Given the description of an element on the screen output the (x, y) to click on. 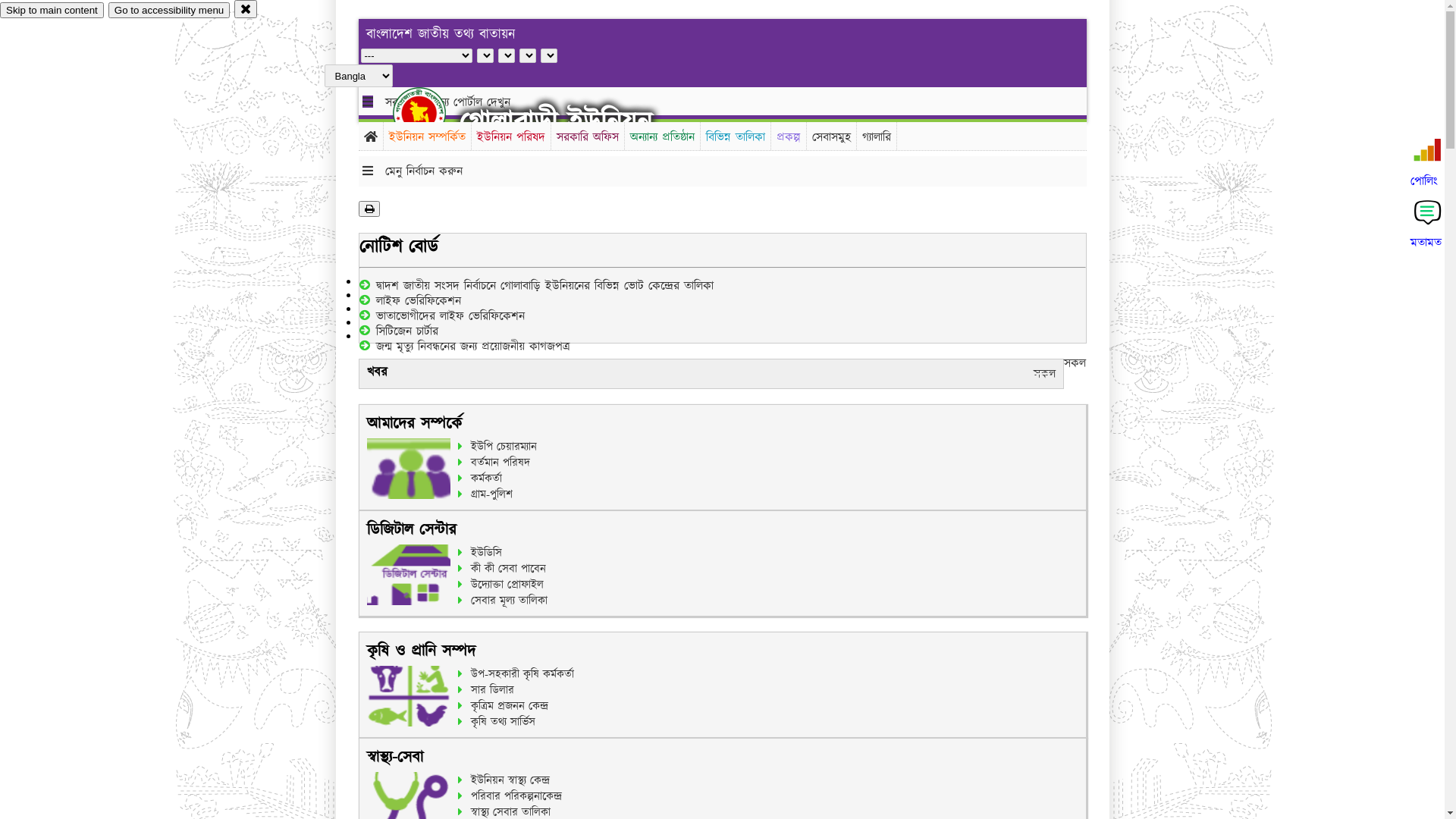

                
             Element type: hover (431, 112)
close Element type: hover (245, 9)
Skip to main content Element type: text (51, 10)
Go to accessibility menu Element type: text (168, 10)
